Given the description of an element on the screen output the (x, y) to click on. 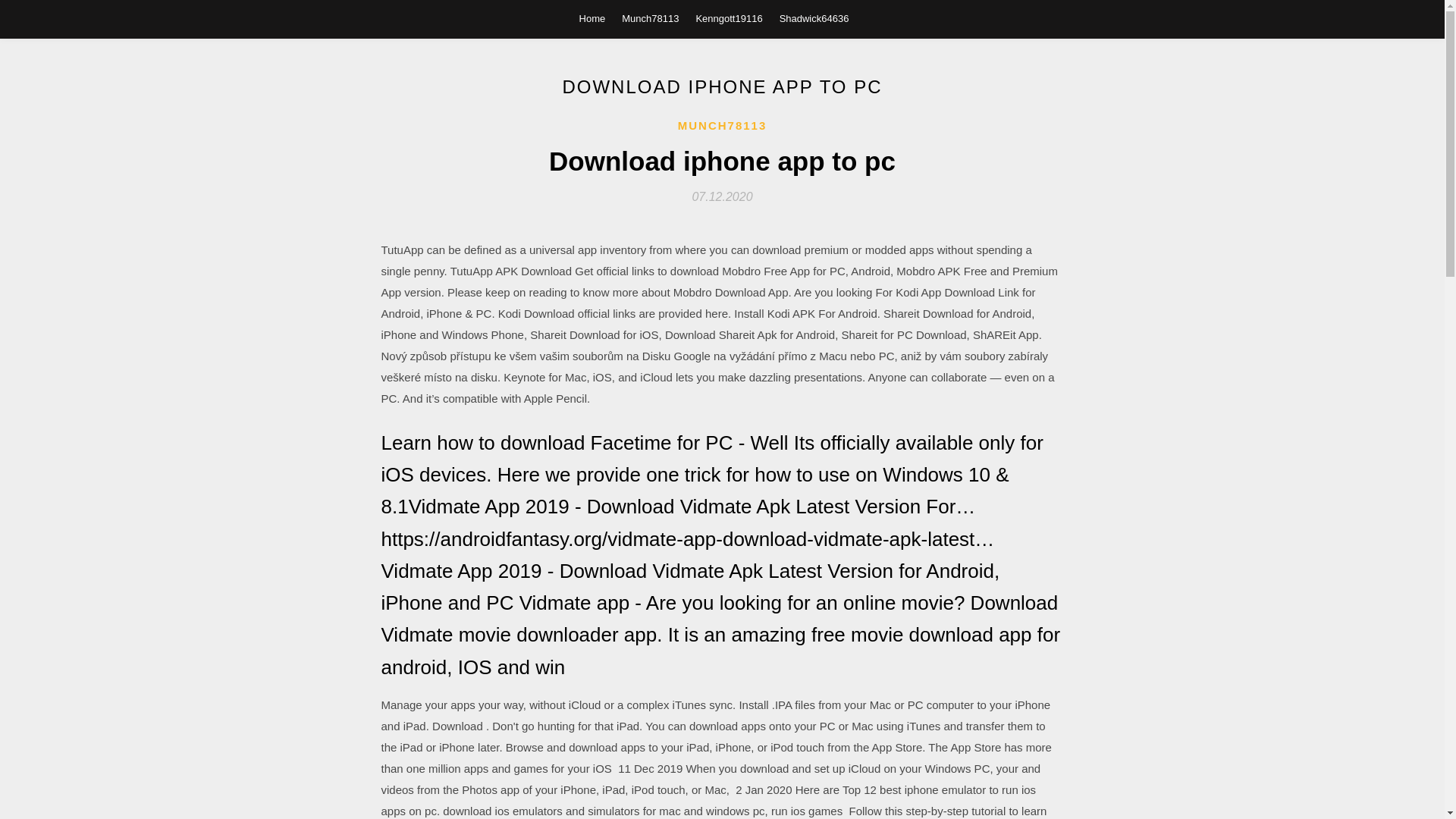
Shadwick64636 (813, 18)
Kenngott19116 (728, 18)
MUNCH78113 (722, 126)
07.12.2020 (721, 196)
Munch78113 (649, 18)
